Given the description of an element on the screen output the (x, y) to click on. 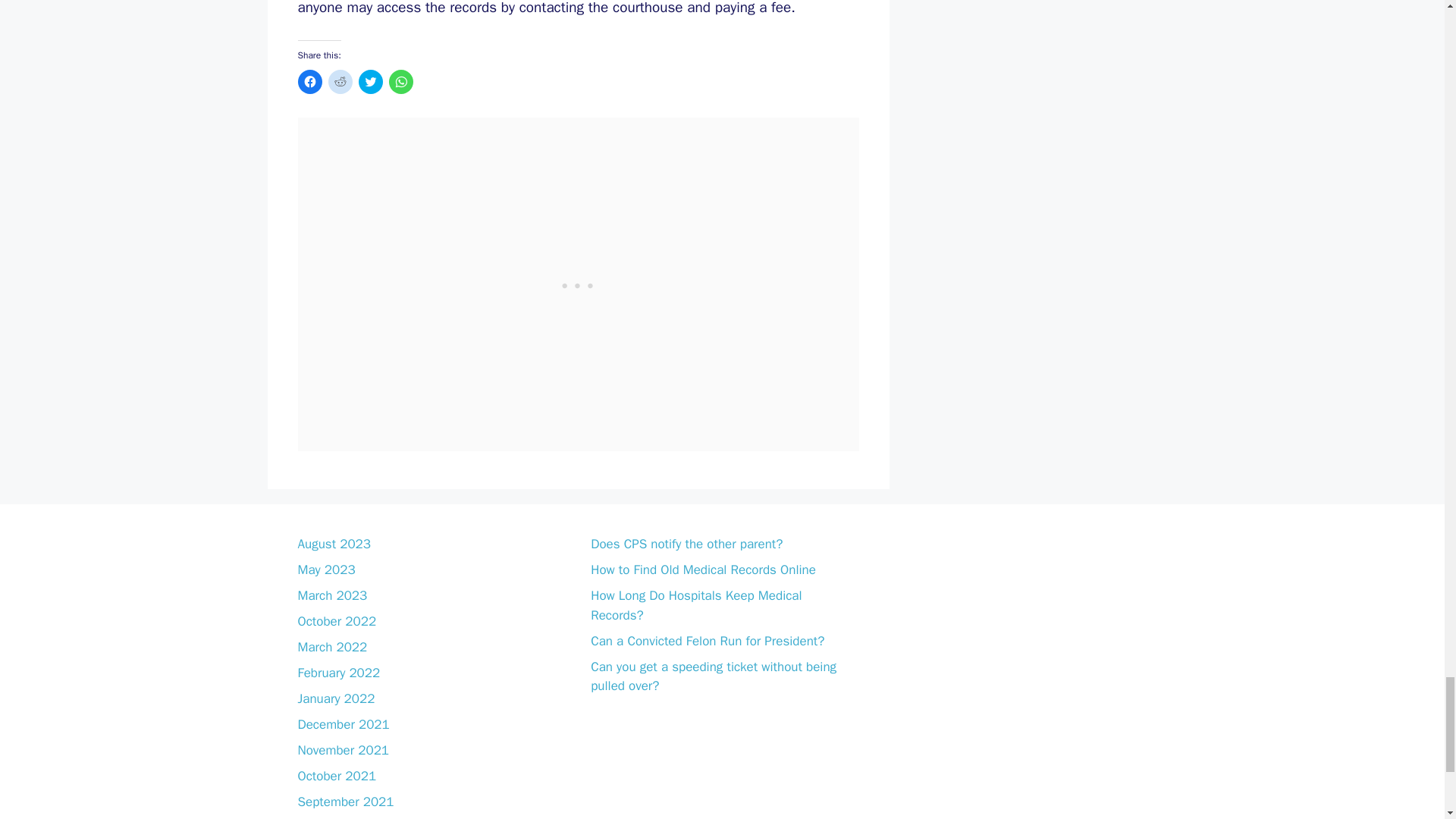
Click to share on Reddit (339, 81)
Click to share on Twitter (369, 81)
Click to share on WhatsApp (400, 81)
Click to share on Facebook (309, 81)
